Given the description of an element on the screen output the (x, y) to click on. 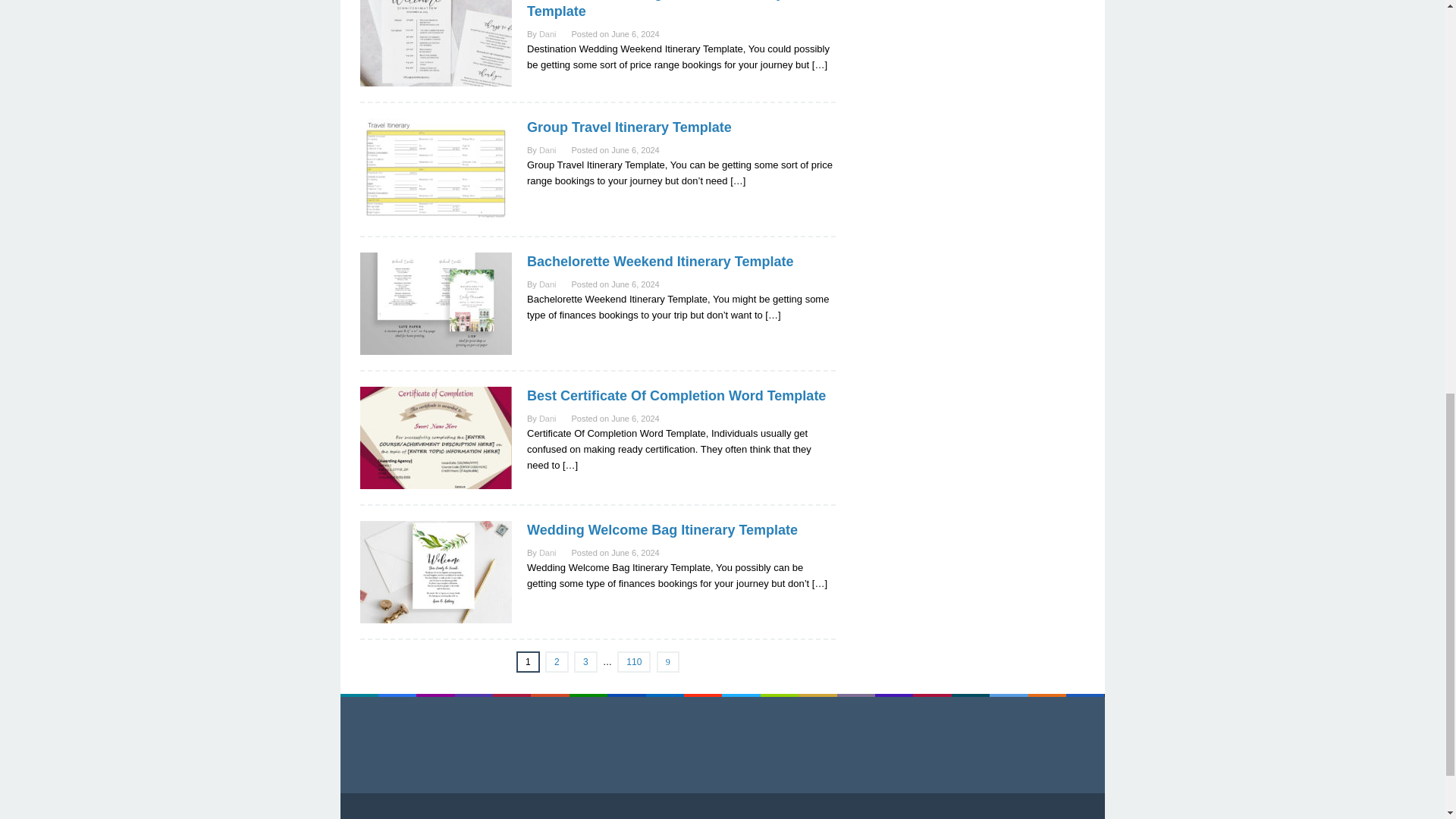
Dani (547, 284)
Group Travel Itinerary Template (629, 127)
Best Certificate Of Completion Word Template (676, 395)
Bachelorette Weekend Itinerary Template (660, 261)
Dani (547, 418)
Dani (547, 33)
Destination Wedding Weekend Itinerary Template (655, 9)
Dani (547, 149)
